Given the description of an element on the screen output the (x, y) to click on. 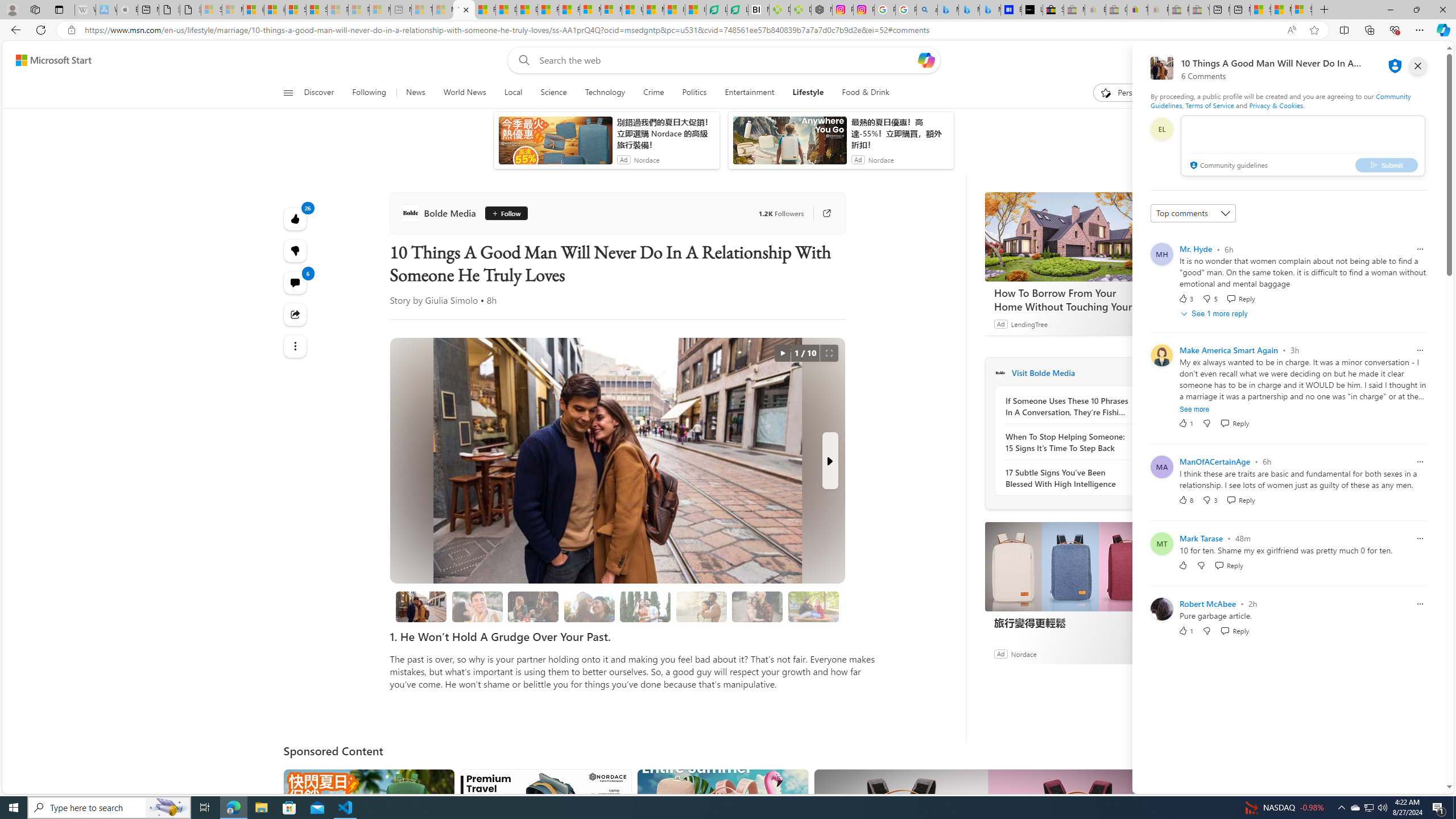
Dislike (1207, 630)
Open Copilot (926, 59)
Like (1182, 564)
Full screen (828, 352)
Payments Terms of Use | eBay.com - Sleeping (1157, 9)
Class: progress (813, 604)
View comments 6 Comment (295, 282)
LendingTree (1029, 323)
Nordace (1023, 653)
Entertainment (749, 92)
